Given the description of an element on the screen output the (x, y) to click on. 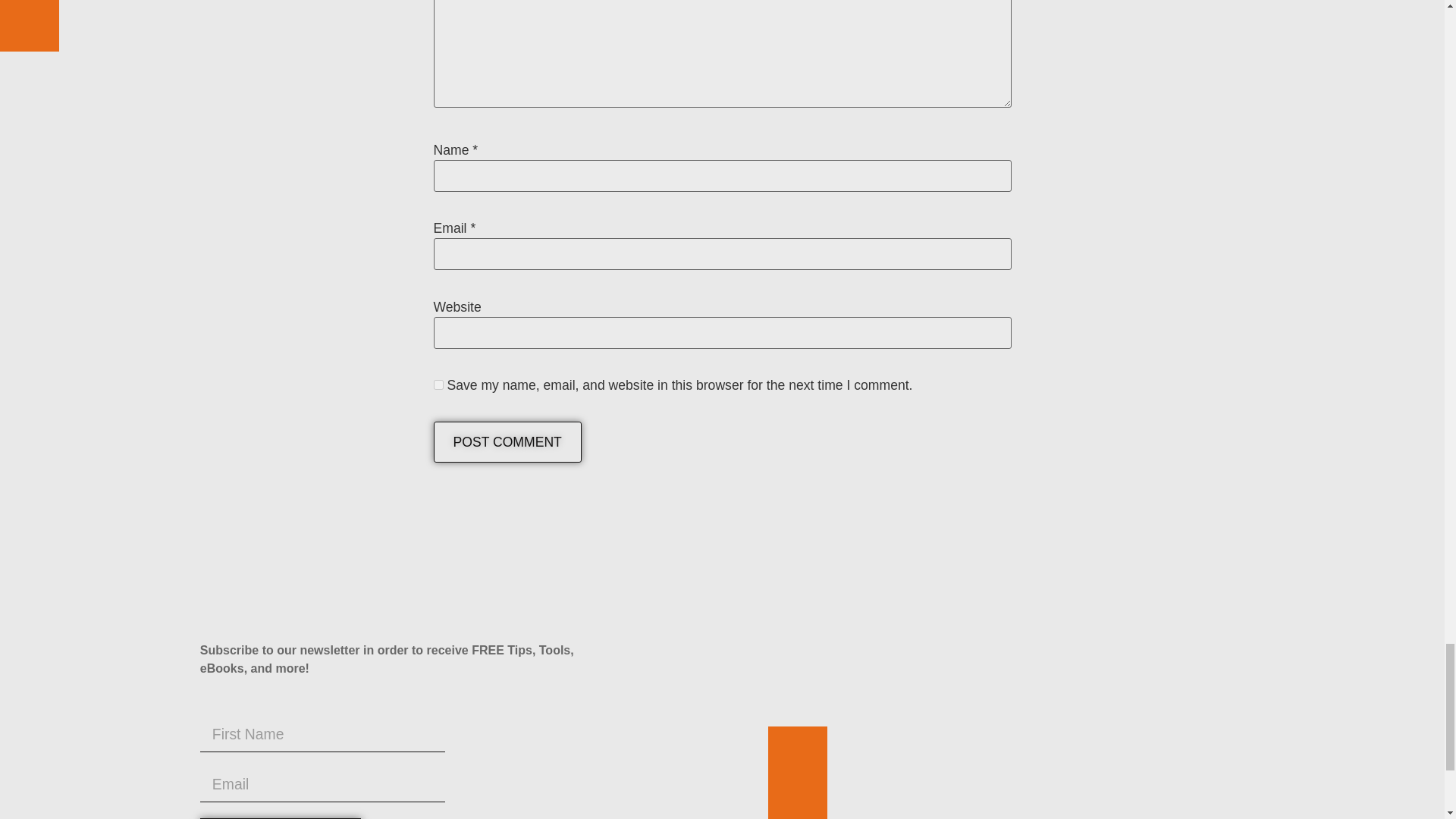
yes (438, 384)
Post Comment (506, 441)
Post Comment (506, 441)
